Given the description of an element on the screen output the (x, y) to click on. 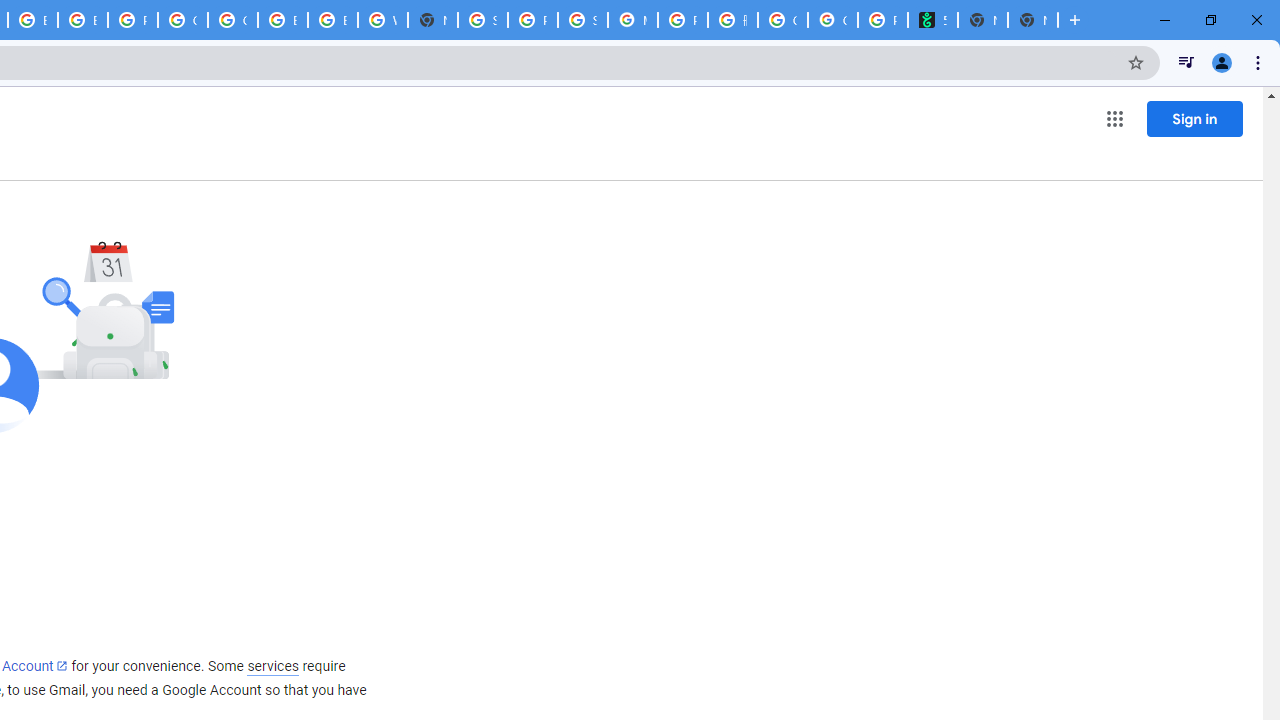
New Tab (433, 20)
Browse Chrome as a guest - Computer - Google Chrome Help (82, 20)
Google Cloud Platform (182, 20)
Sign in - Google Accounts (483, 20)
Browse Chrome as a guest - Computer - Google Chrome Help (283, 20)
